Given the description of an element on the screen output the (x, y) to click on. 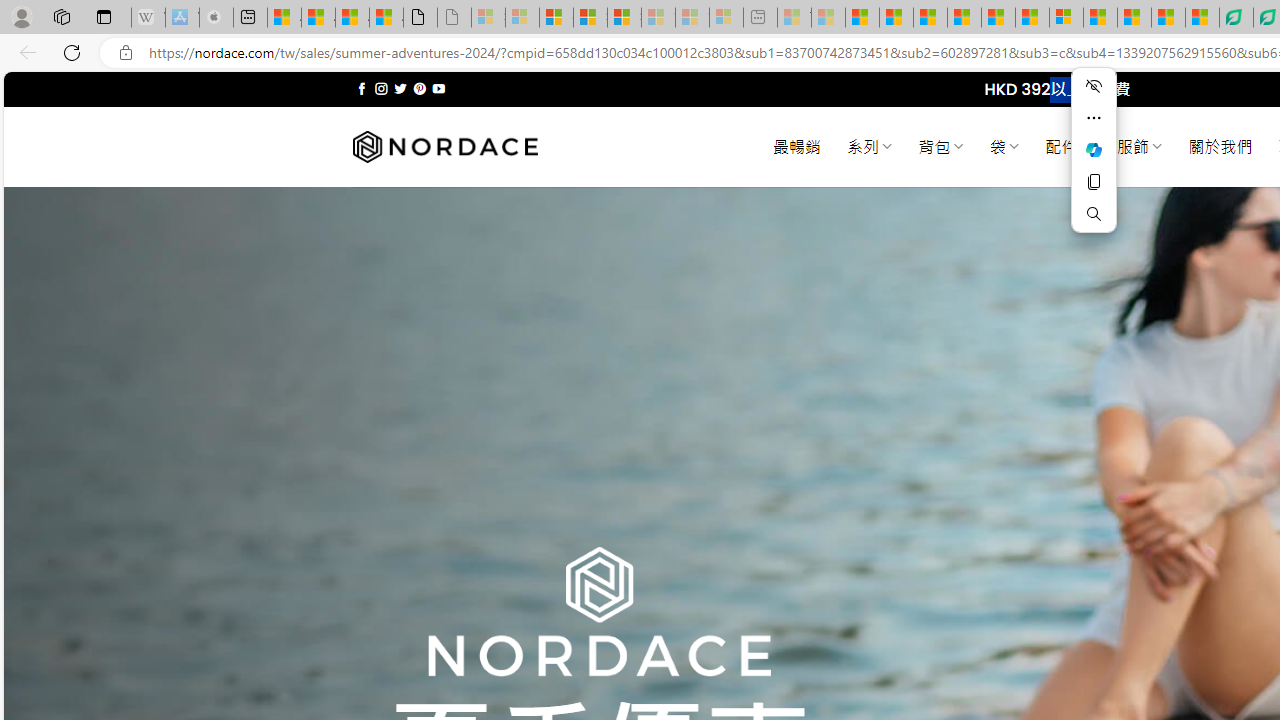
Follow on Twitter (400, 88)
Aberdeen, Hong Kong SAR severe weather | Microsoft Weather (386, 17)
Nordace (444, 147)
Mini menu on text selection (1094, 149)
Follow on YouTube (438, 88)
Follow on Instagram (381, 88)
